Given the description of an element on the screen output the (x, y) to click on. 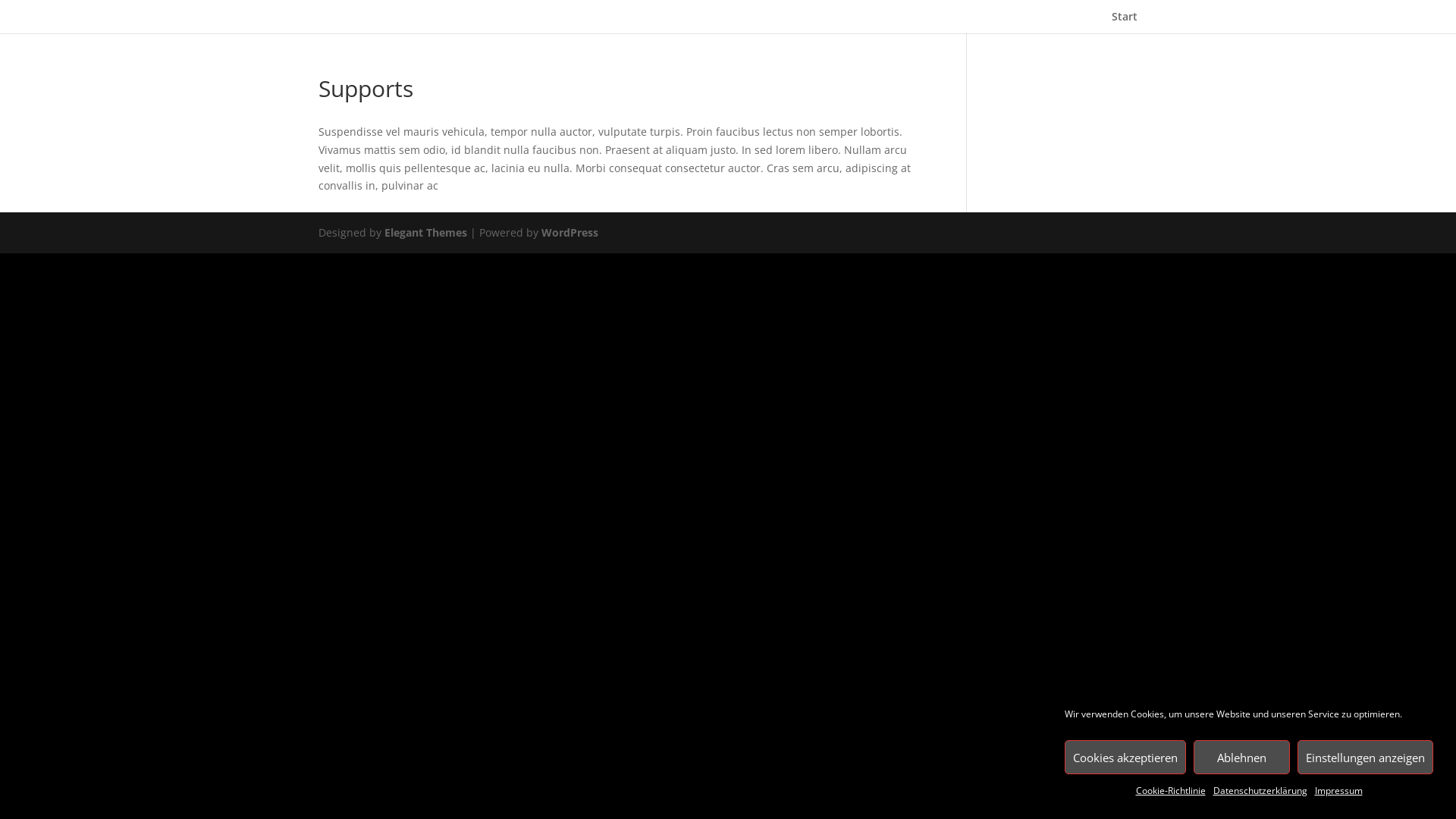
Start Element type: text (1124, 22)
Ablehnen Element type: text (1241, 757)
Elegant Themes Element type: text (425, 232)
Cookie-Richtlinie Element type: text (1170, 790)
Einstellungen anzeigen Element type: text (1365, 757)
WordPress Element type: text (569, 232)
Cookies akzeptieren Element type: text (1125, 757)
Impressum Element type: text (1338, 790)
